Given the description of an element on the screen output the (x, y) to click on. 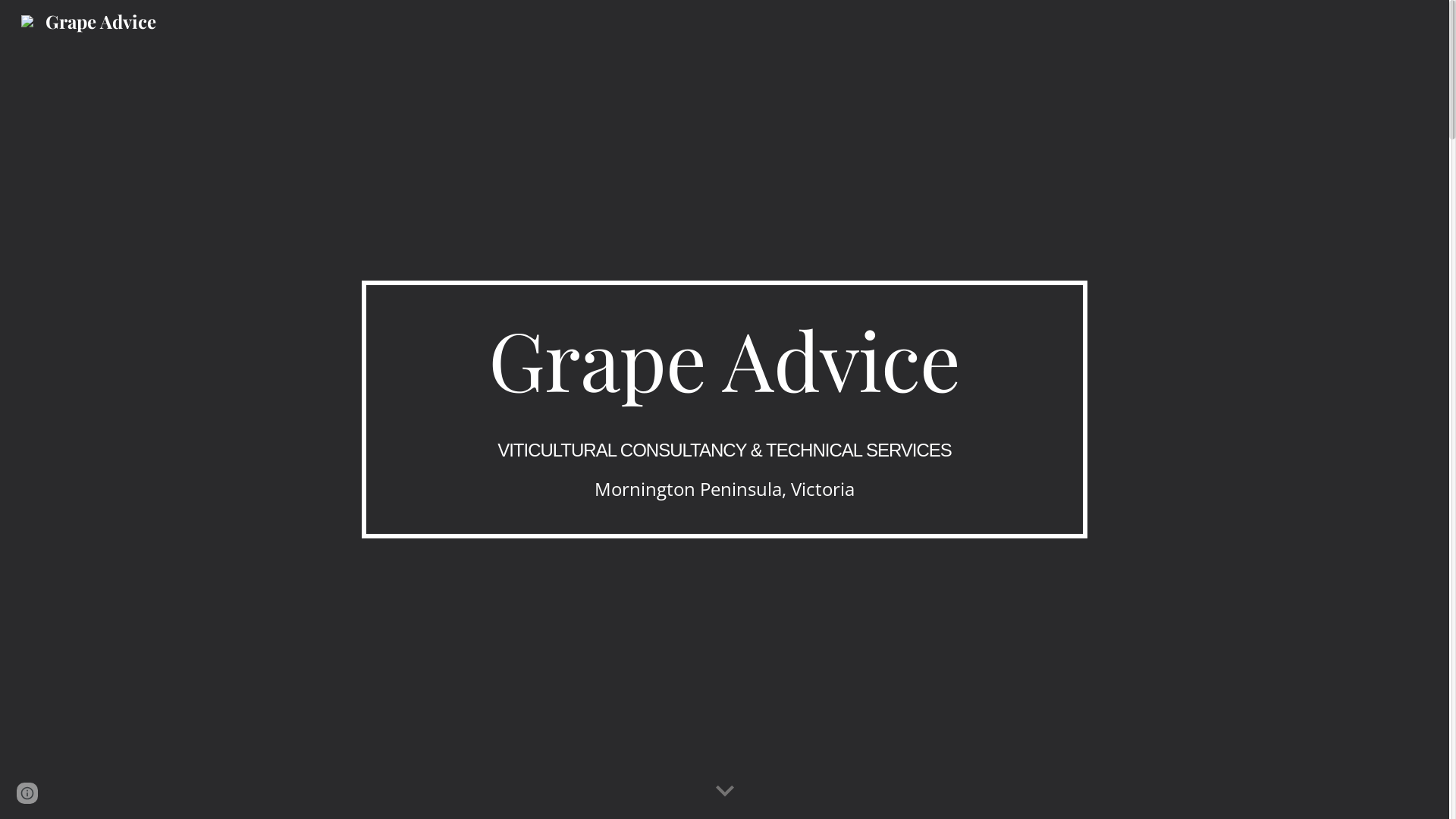
Grape Advice Element type: text (88, 18)
